Given the description of an element on the screen output the (x, y) to click on. 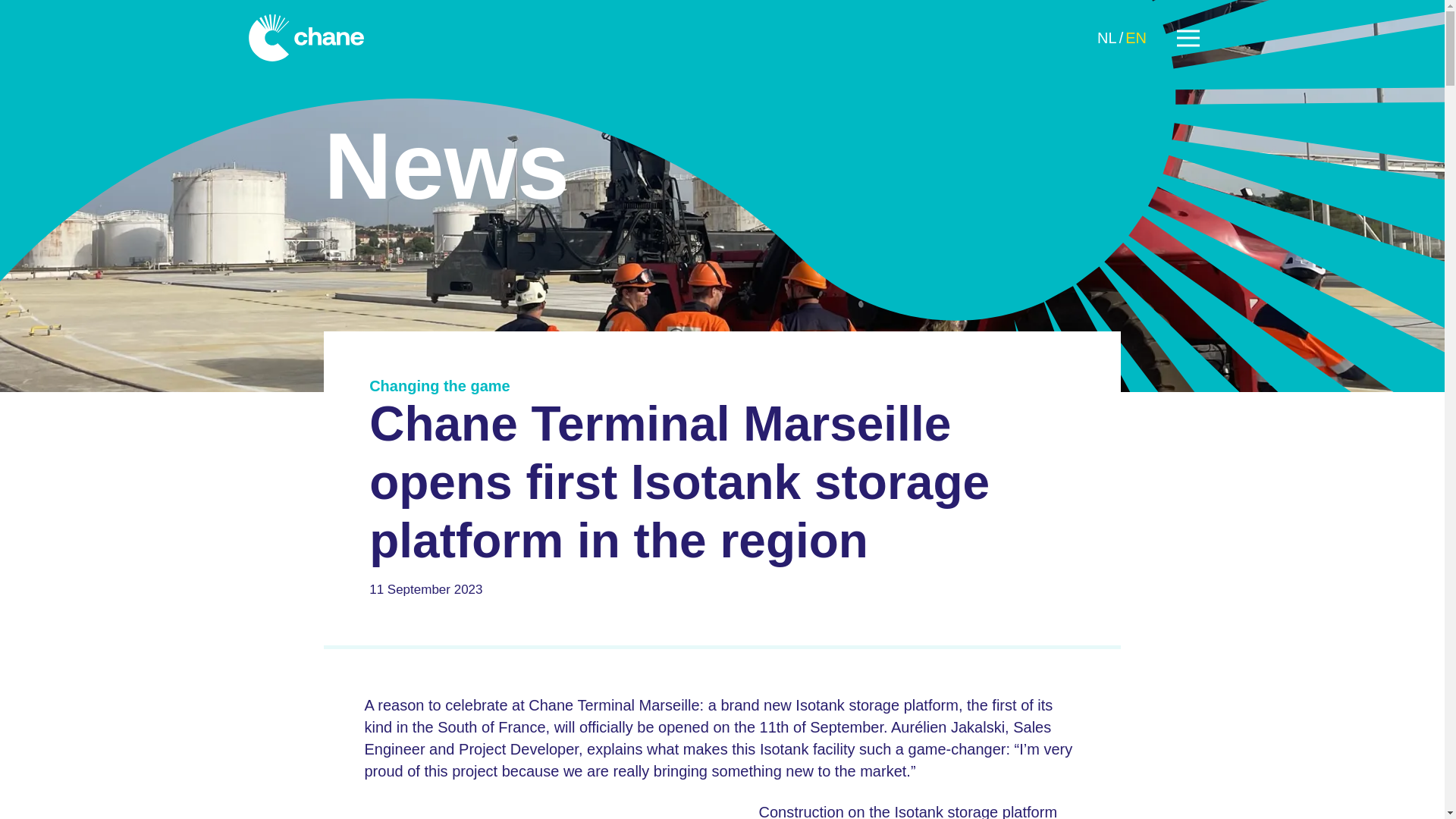
Chane (306, 37)
EN (1136, 36)
NL (1106, 36)
